Given the description of an element on the screen output the (x, y) to click on. 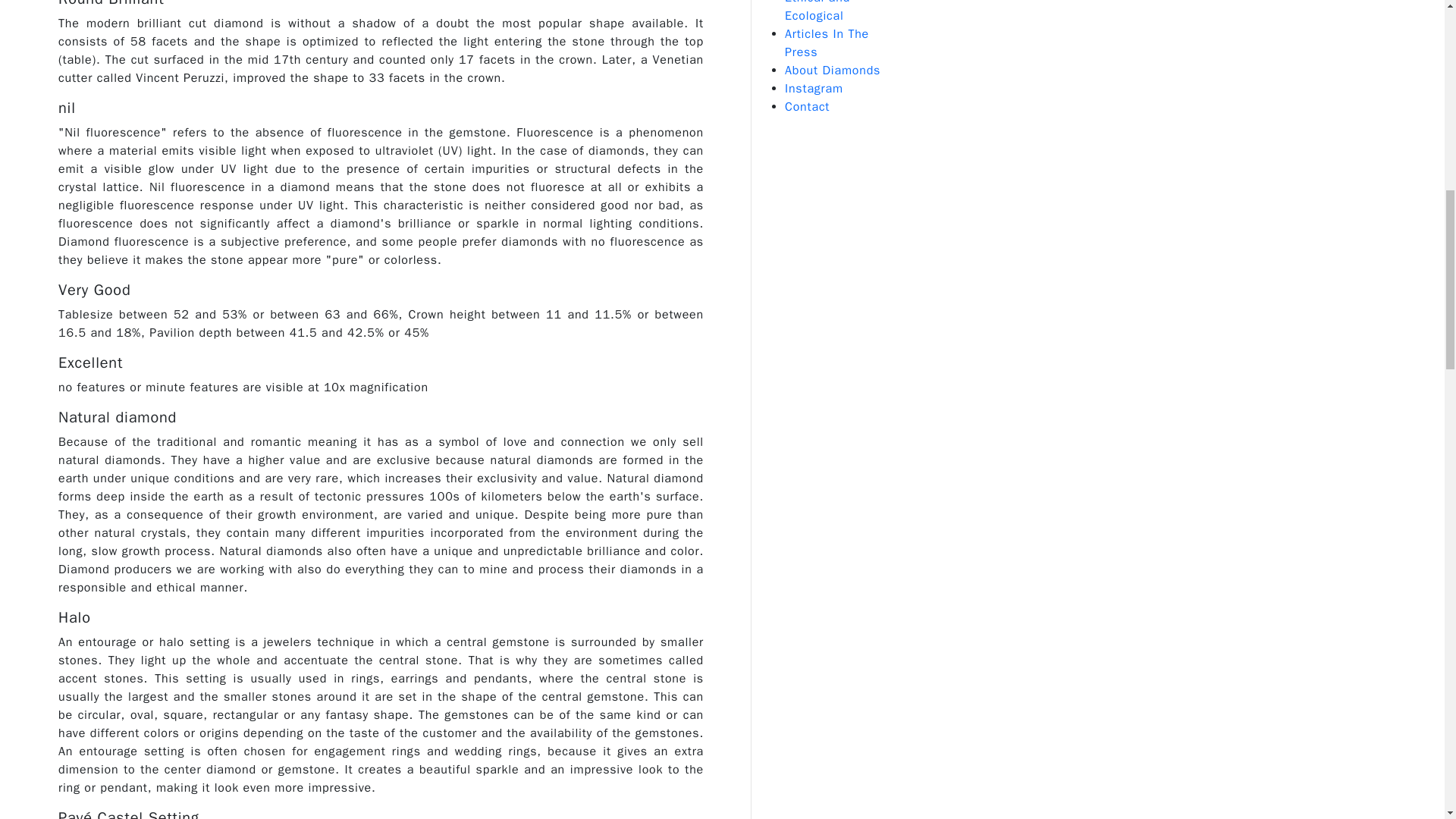
Contact (806, 106)
Ethical and Ecological (817, 11)
Articles In The Press (826, 42)
Instagram (813, 88)
About Diamonds (832, 70)
